Given the description of an element on the screen output the (x, y) to click on. 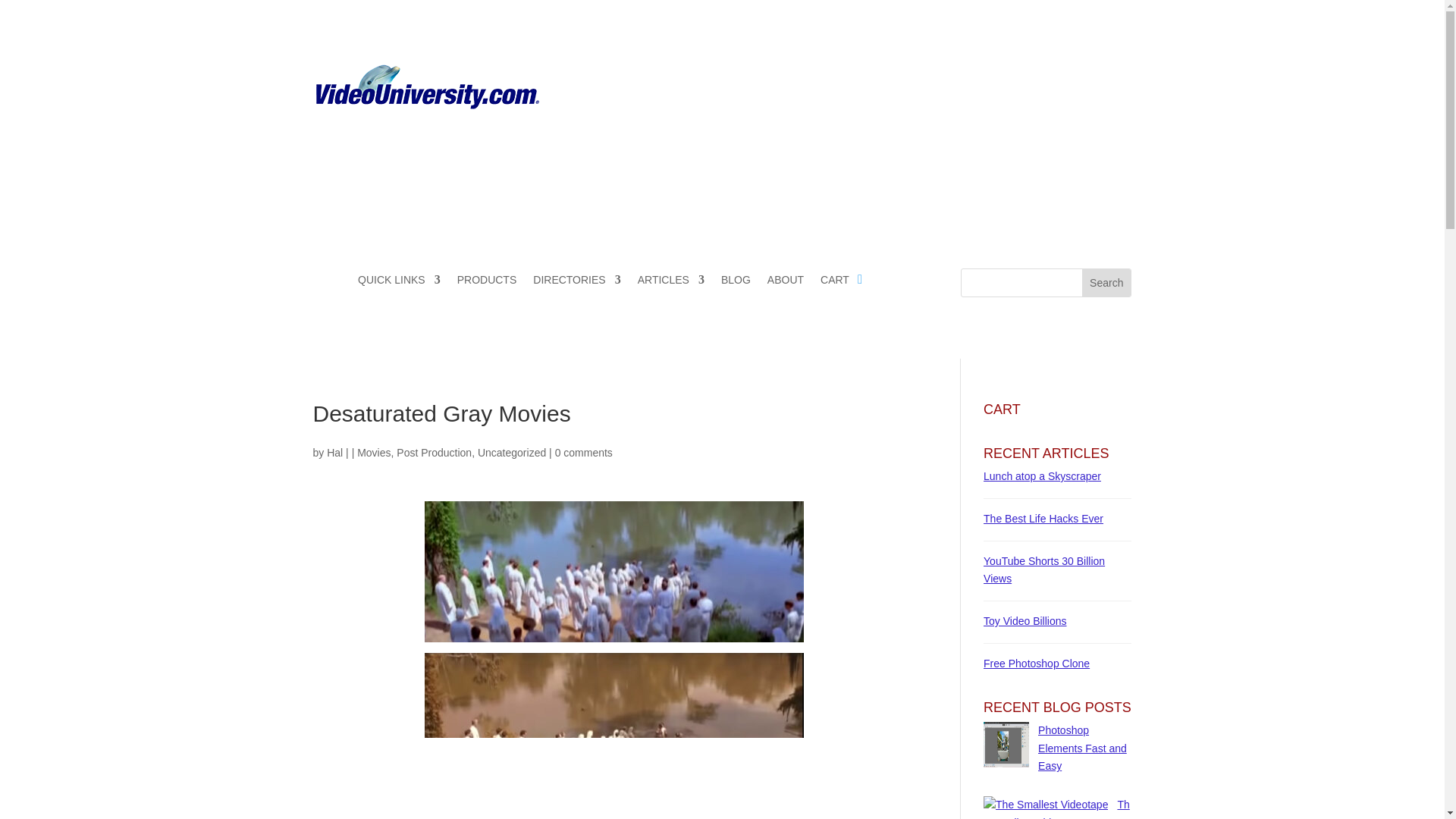
QUICK LINKS (399, 282)
Search (1106, 282)
PRODUCTS (486, 282)
vide-university300 (426, 103)
DIRECTORIES (576, 282)
Search (1106, 282)
ARTICLES (670, 282)
Posts by Hal (334, 452)
